Given the description of an element on the screen output the (x, y) to click on. 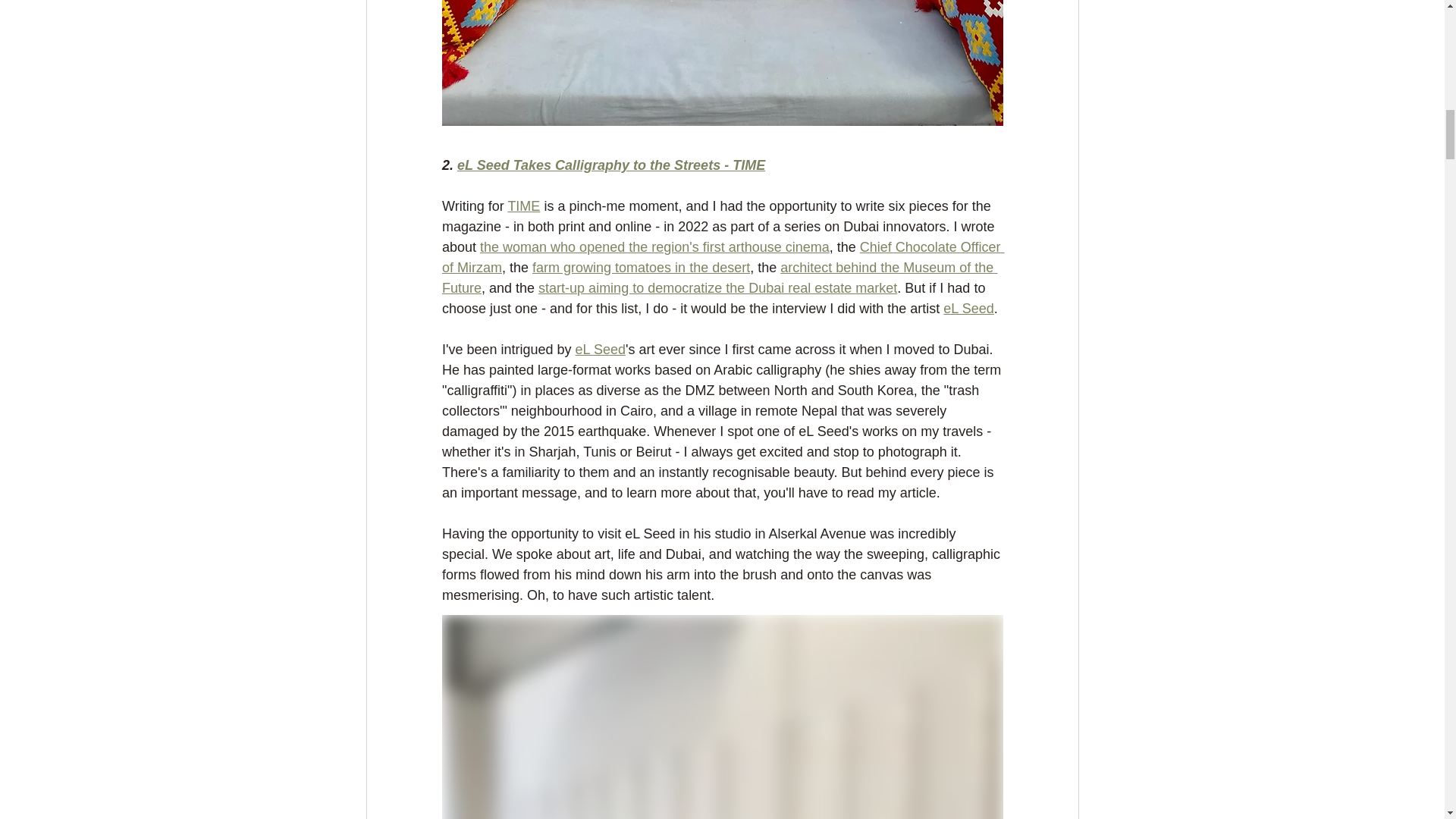
eL Seed Takes Calligraphy to the Streets - TIME (611, 165)
Chief Chocolate Officer of Mirzam (722, 257)
eL Seed (599, 349)
eL Seed (967, 308)
TIME (523, 206)
farm growing tomatoes in the desert (640, 267)
start-up aiming to democratize the Dubai real estate market (717, 287)
architect behind the Museum of the Future (718, 277)
the woman who opened the region's first arthouse cinema (654, 246)
